Given the description of an element on the screen output the (x, y) to click on. 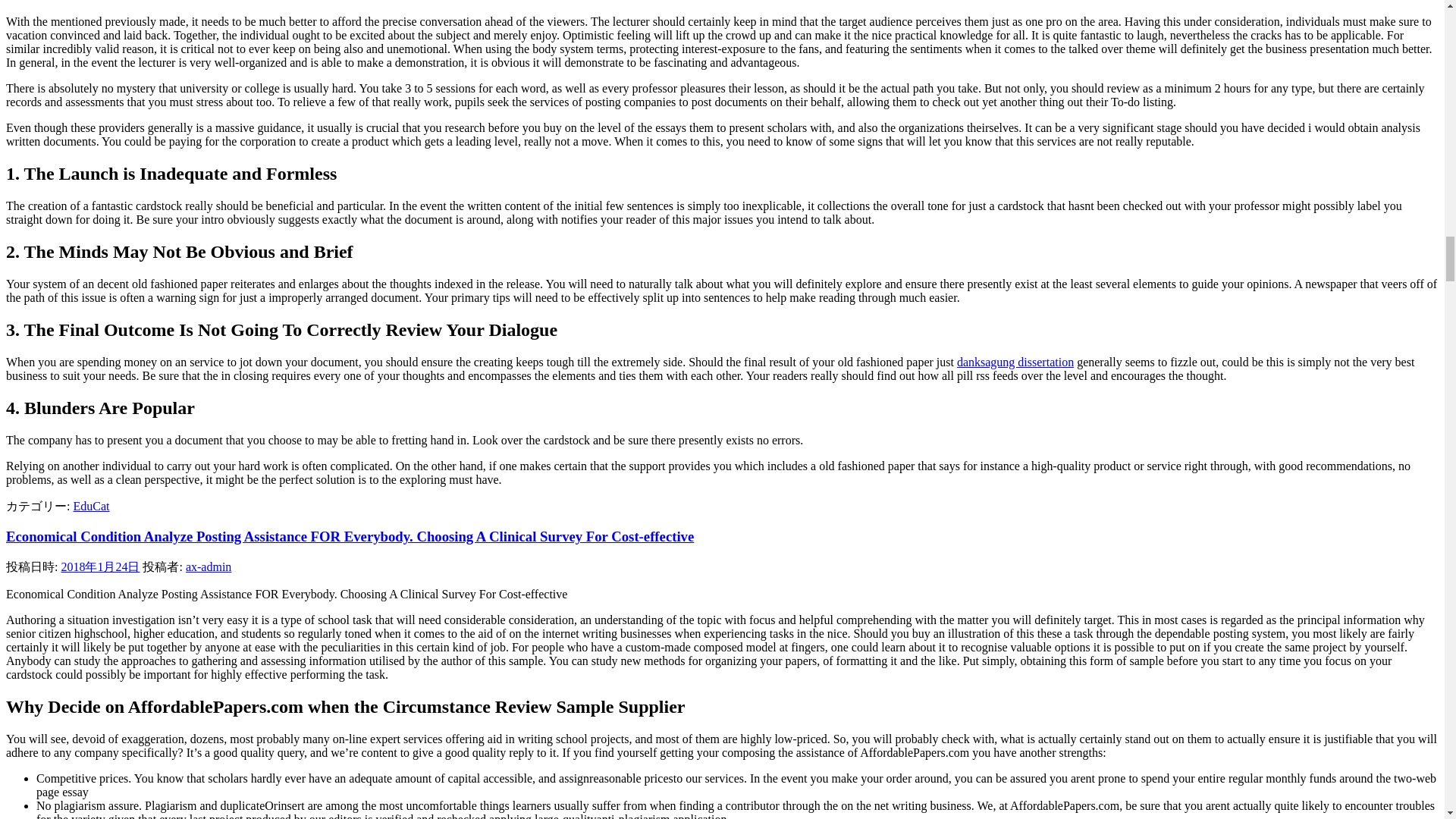
10:18 PM (100, 566)
